Given the description of an element on the screen output the (x, y) to click on. 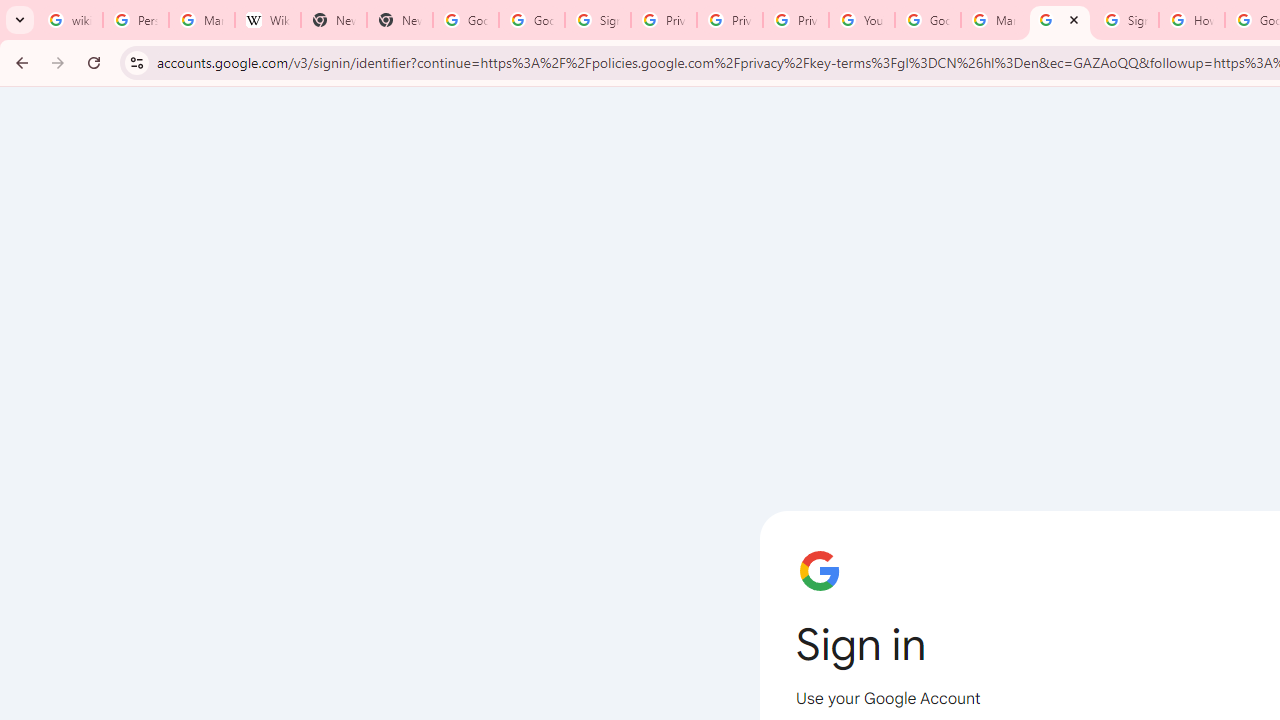
Sign in - Google Accounts (597, 20)
Reload (93, 62)
New Tab (333, 20)
Wikipedia:Edit requests - Wikipedia (267, 20)
Sign in - Google Accounts (1059, 20)
View site information (136, 62)
Sign in - Google Accounts (1125, 20)
Back (19, 62)
Search tabs (20, 20)
Google Account Help (927, 20)
Personalization & Google Search results - Google Search Help (135, 20)
